Given the description of an element on the screen output the (x, y) to click on. 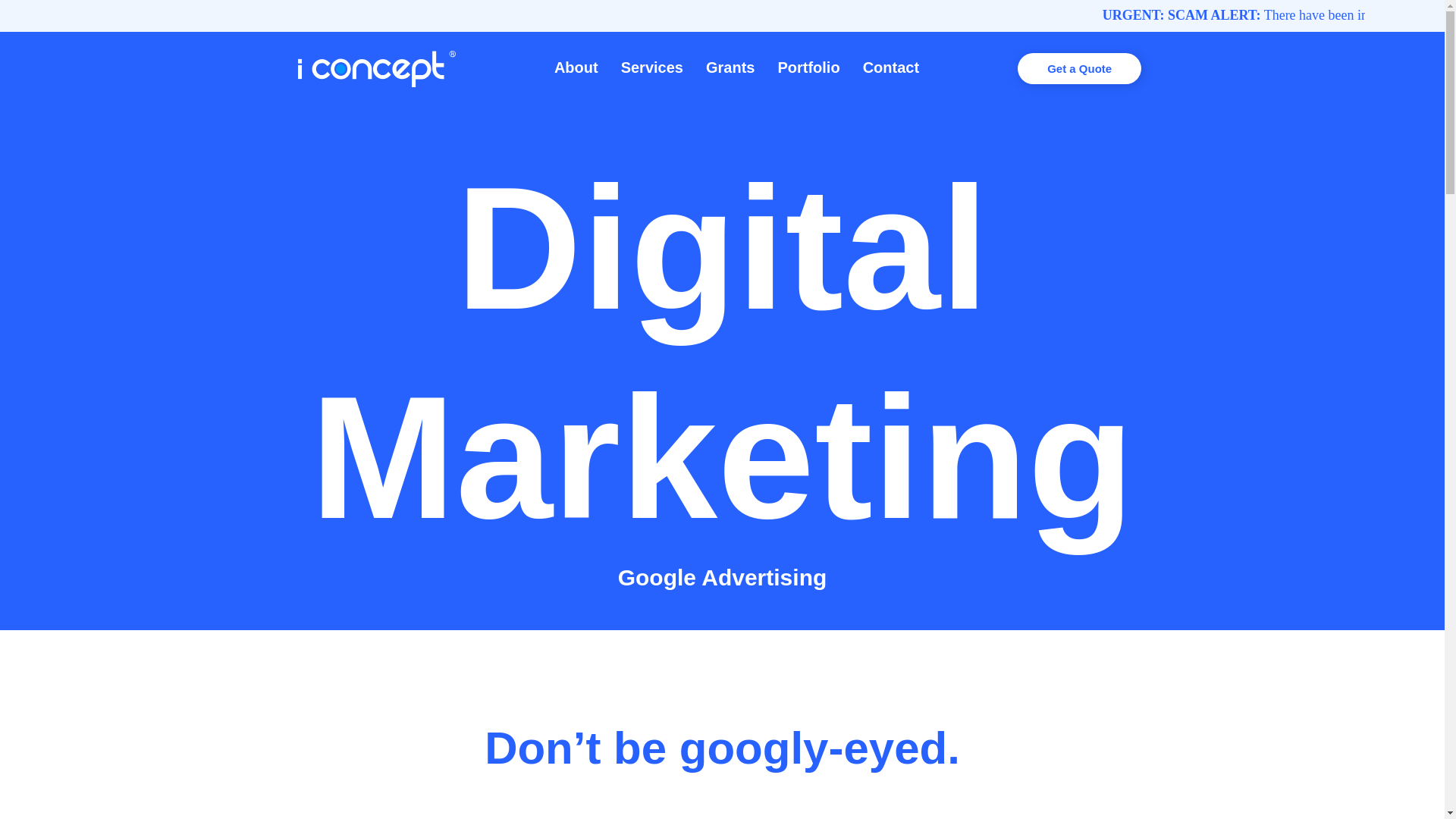
Grants (729, 67)
Services (652, 67)
Portfolio (807, 67)
Contact (890, 67)
Get a Quote (1078, 68)
About (576, 67)
